Given the description of an element on the screen output the (x, y) to click on. 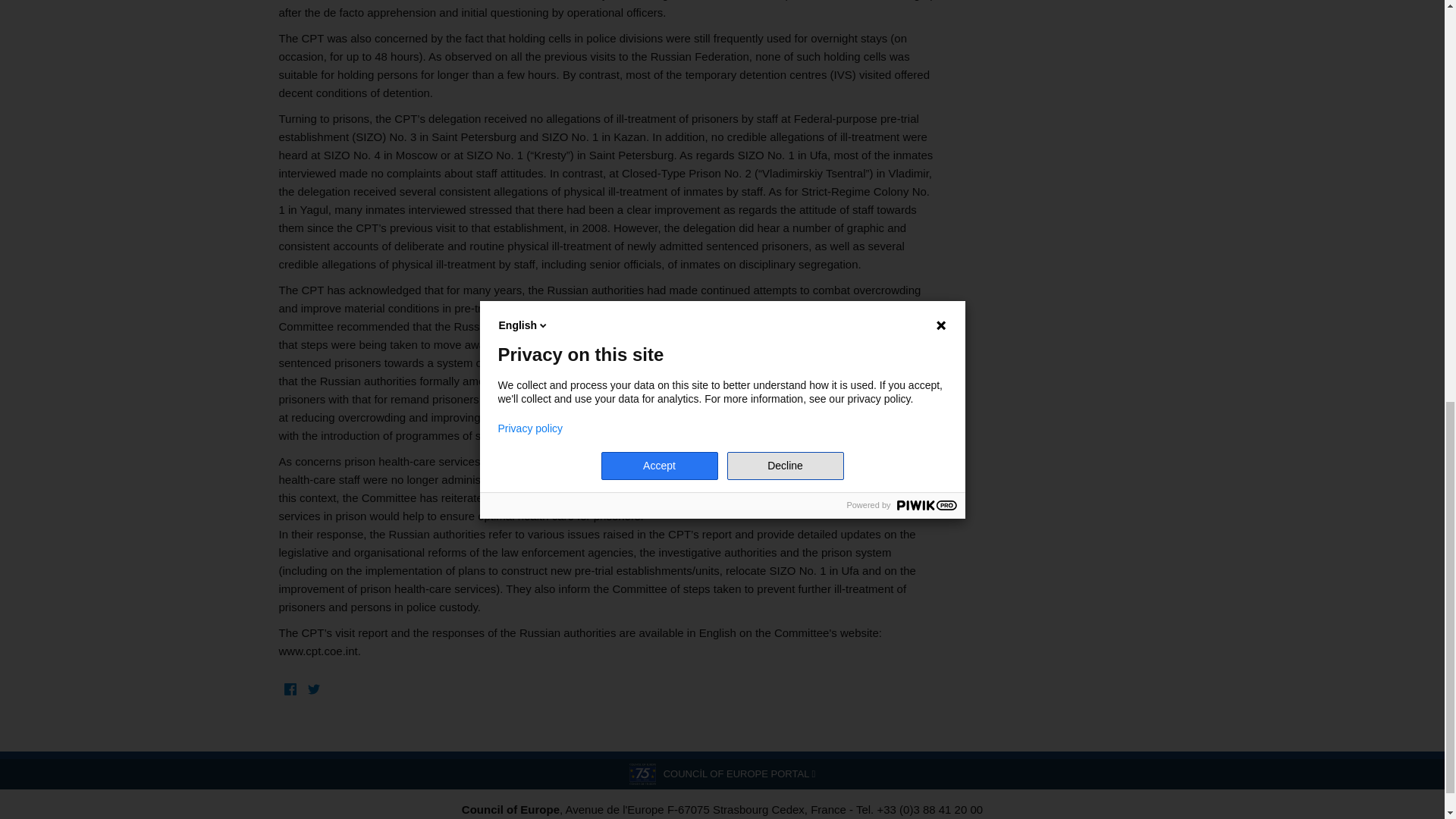
Facebook (290, 689)
